Given the description of an element on the screen output the (x, y) to click on. 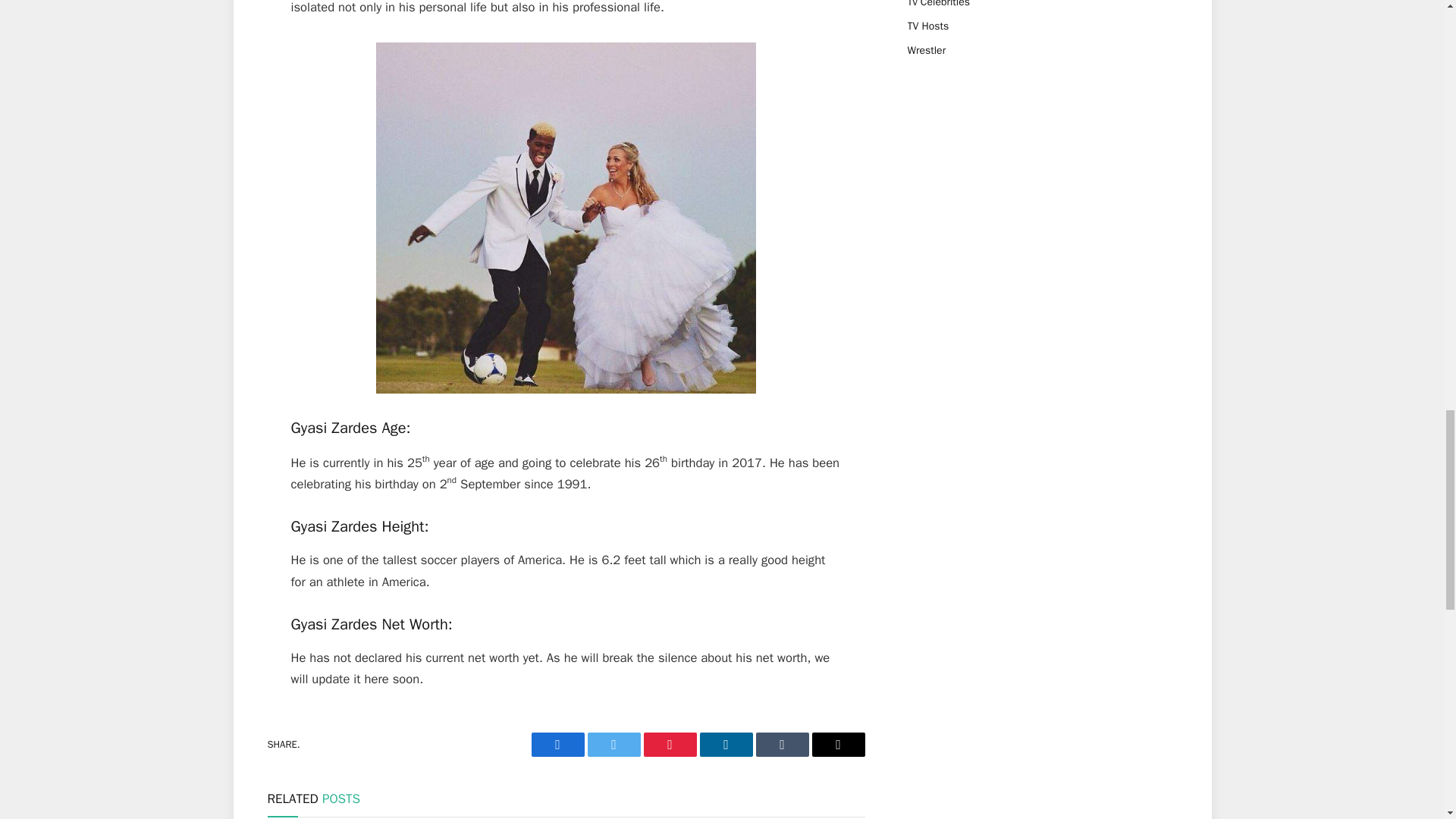
Share on Facebook (557, 744)
